Given the description of an element on the screen output the (x, y) to click on. 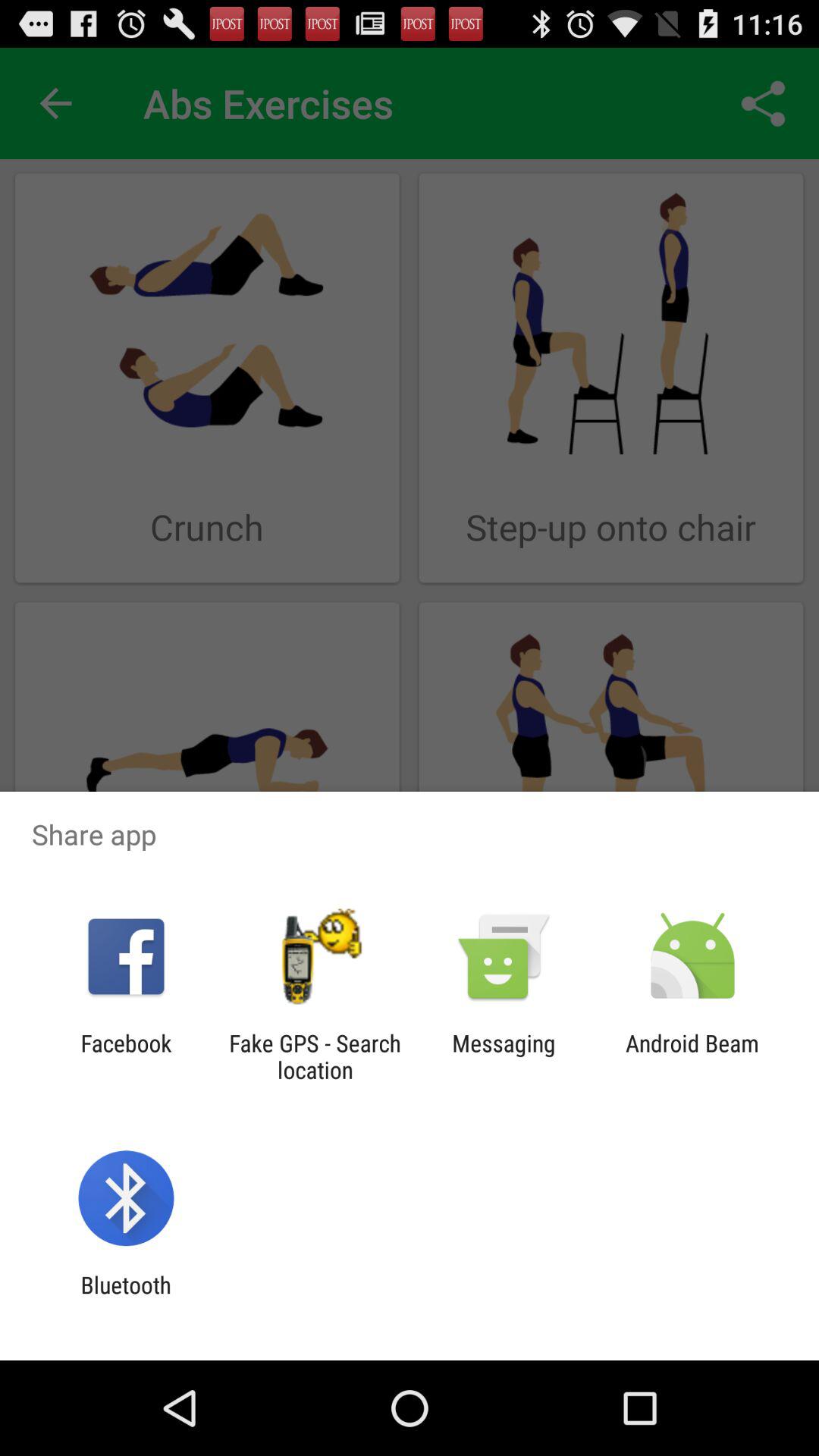
select the item next to the abs exercises app (55, 103)
